Given the description of an element on the screen output the (x, y) to click on. 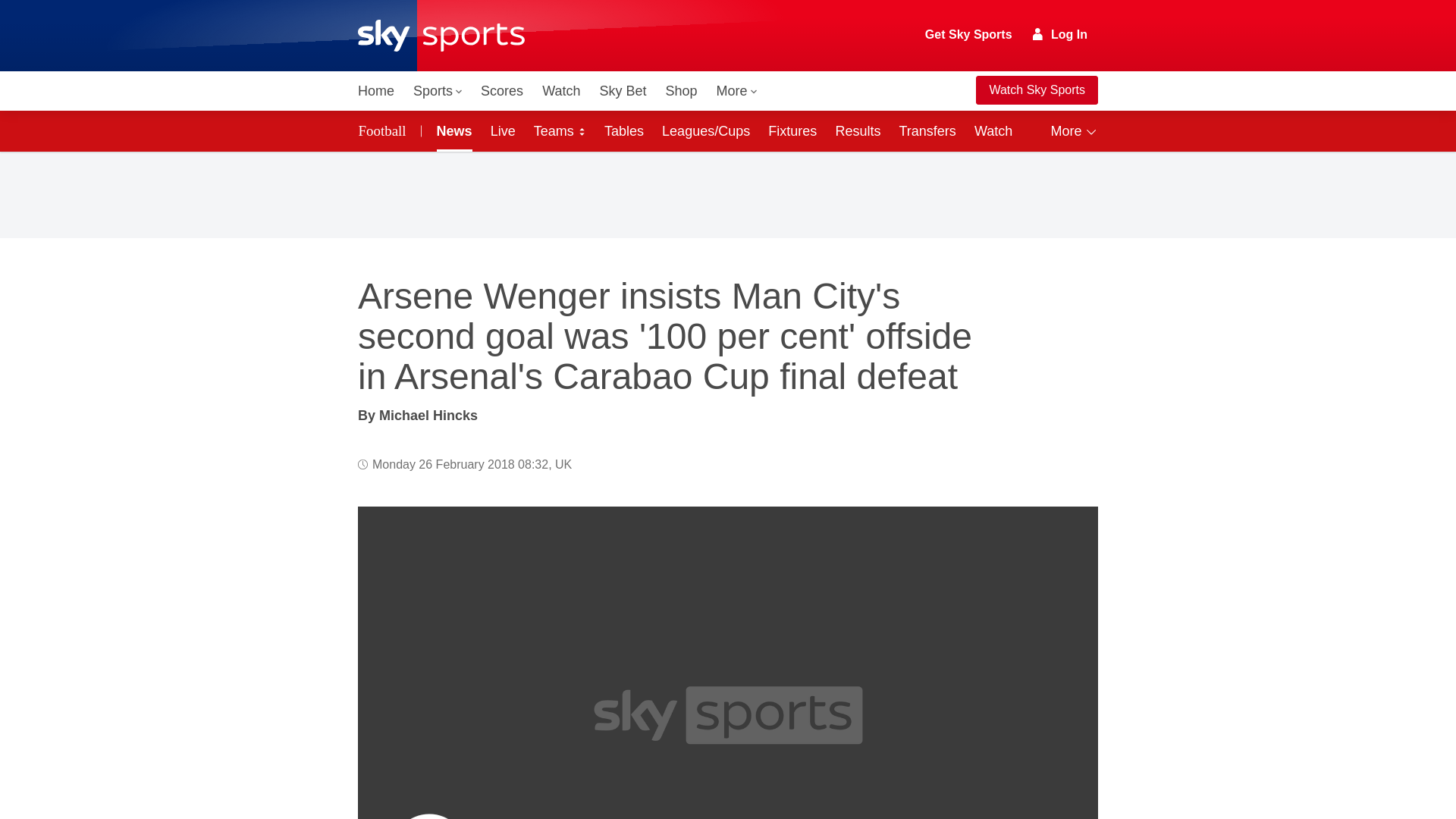
Sports (437, 91)
More (736, 91)
Sky Bet (622, 91)
Share (1067, 536)
Scores (502, 91)
Home (375, 91)
Shop (681, 91)
News (451, 130)
Football (385, 130)
Watch (561, 91)
